Given the description of an element on the screen output the (x, y) to click on. 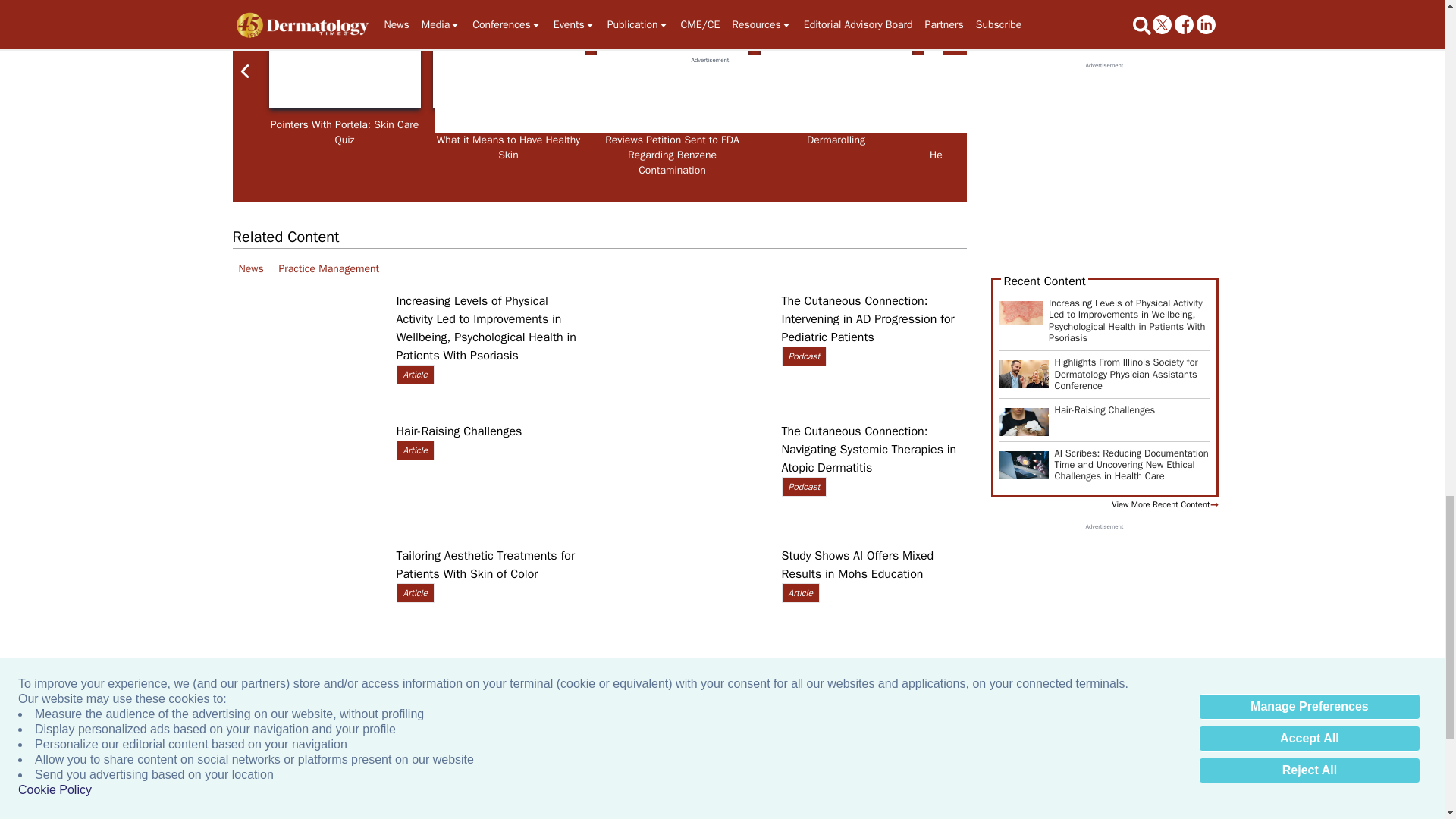
Pointers With Portela: Skin Care Quiz  (343, 65)
Pointers With Portela: Dermarolling  (835, 65)
